Given the description of an element on the screen output the (x, y) to click on. 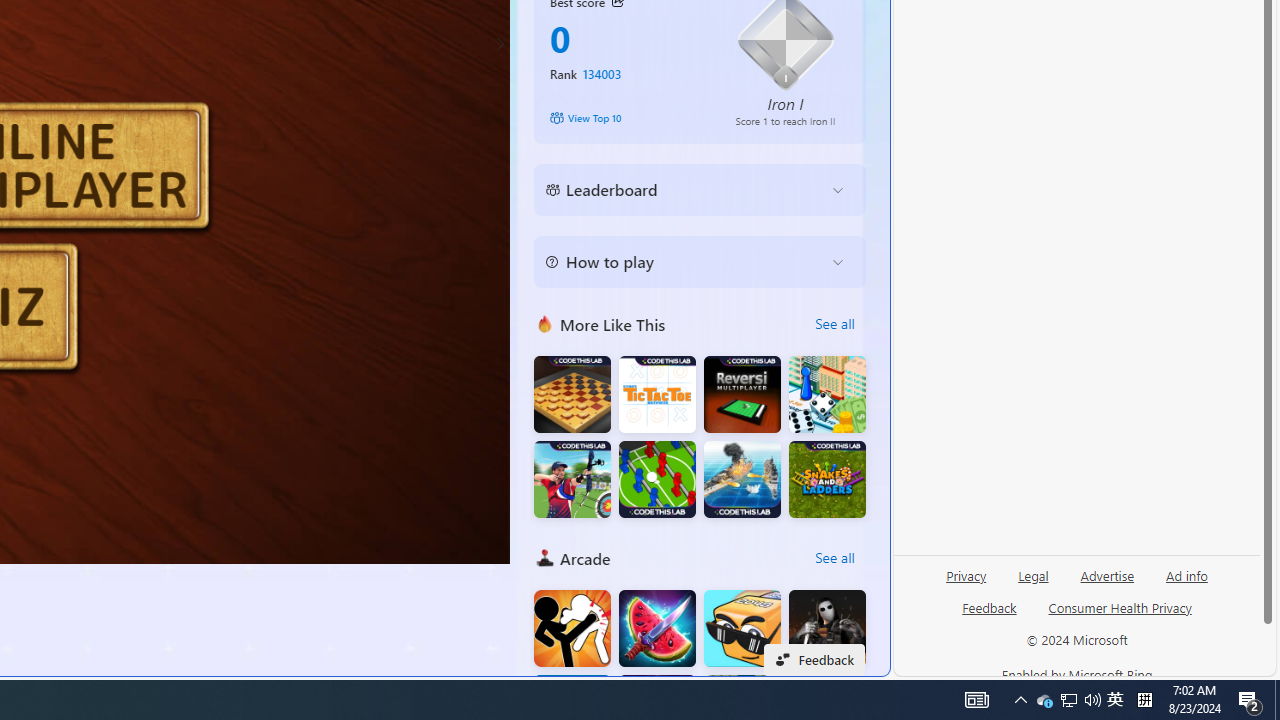
See all (834, 557)
Hotel Manager (827, 394)
Battleship War Multiplayer (742, 479)
Class: control (499, 43)
